Given the description of an element on the screen output the (x, y) to click on. 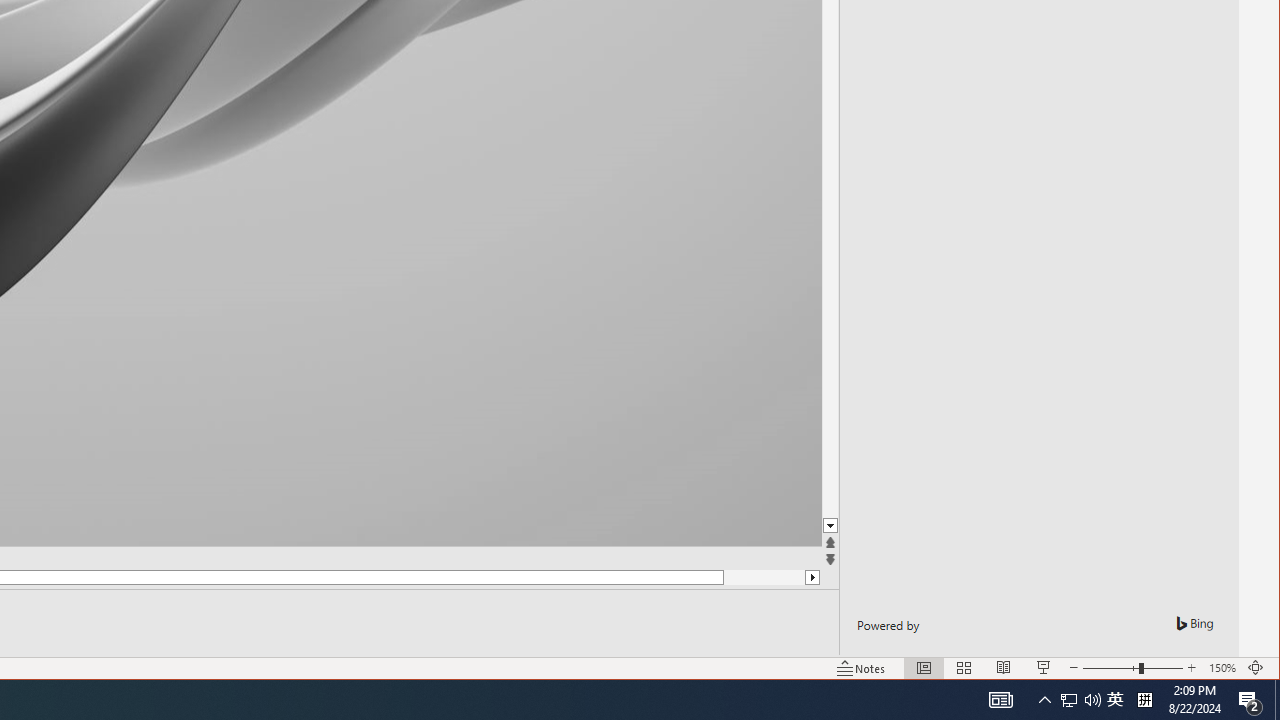
Zoom 150% (1222, 668)
